Given the description of an element on the screen output the (x, y) to click on. 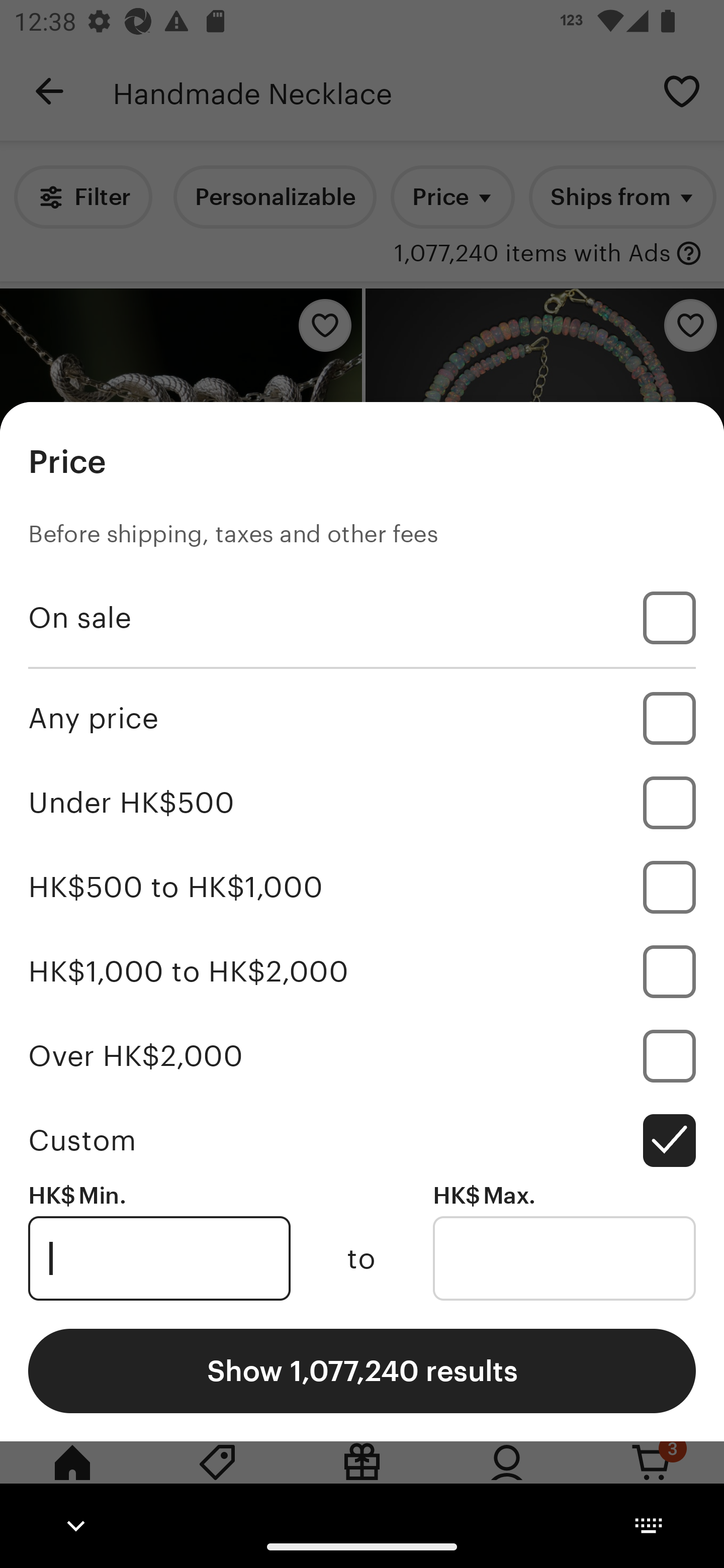
On sale (362, 617)
Any price (362, 717)
Under HK$500 (362, 802)
HK$500 to HK$1,000 (362, 887)
HK$1,000 to HK$2,000 (362, 970)
Over HK$2,000 (362, 1054)
Custom (362, 1139)
Show 1,077,240 results (361, 1370)
